Given the description of an element on the screen output the (x, y) to click on. 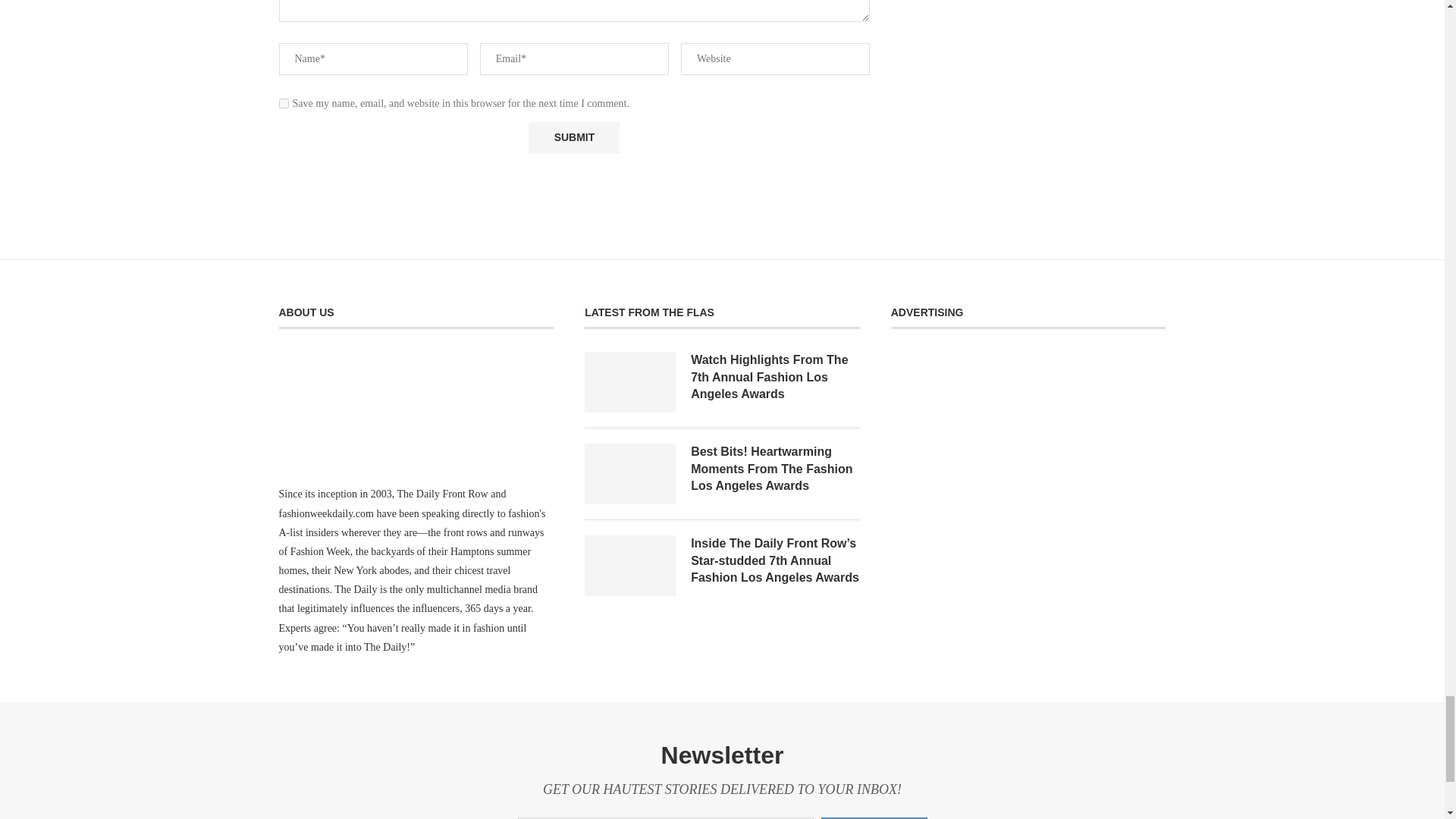
yes (283, 103)
Subscribe (873, 818)
Submit (574, 137)
